Given the description of an element on the screen output the (x, y) to click on. 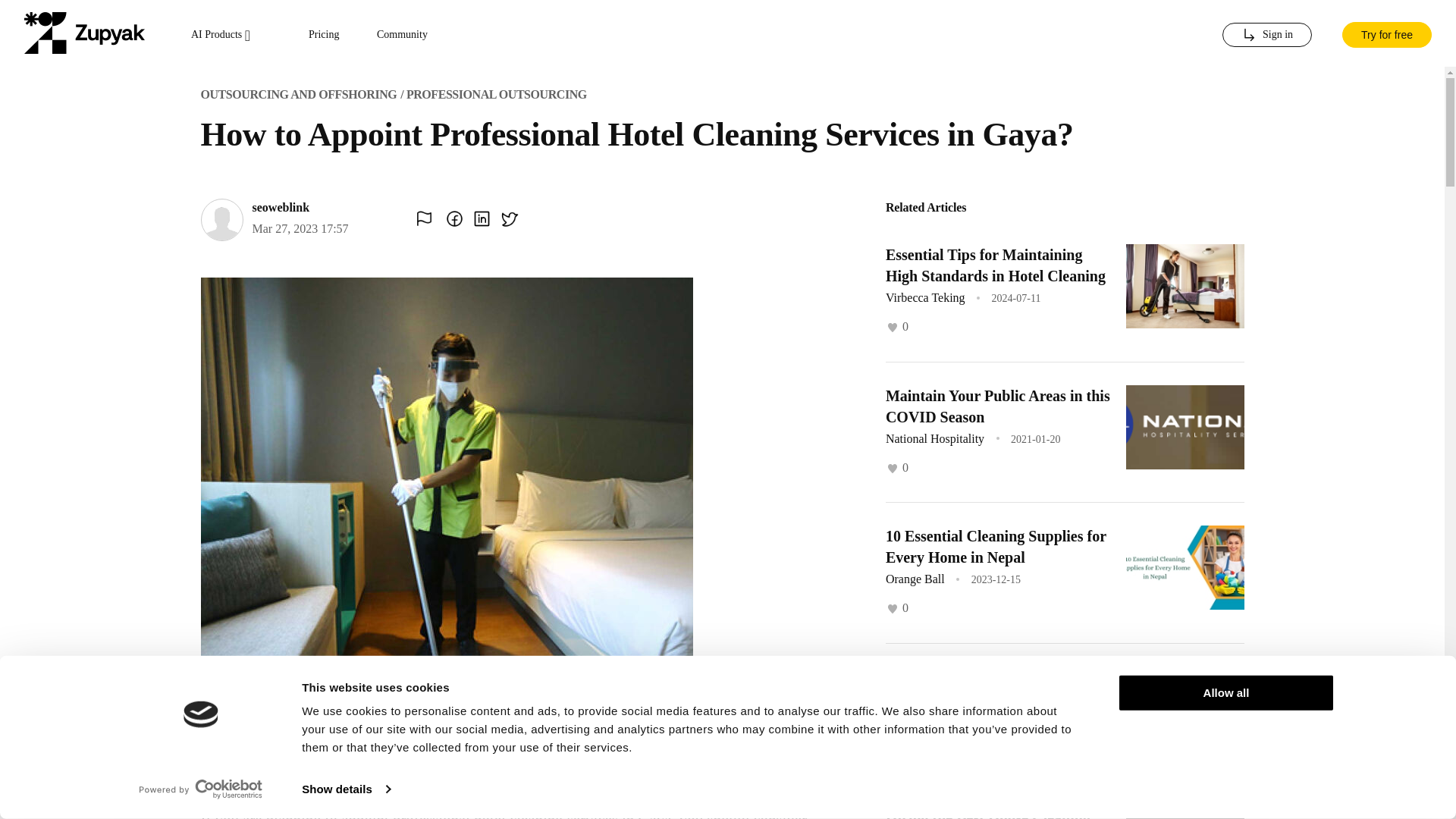
Show details (345, 789)
Maintain Your Public Areas in this COVID Season (997, 405)
Hiring the Best House Cleaning Service St Kilda, Melbourne (987, 814)
10 Essential Cleaning Supplies for Every Home in Nepal (995, 546)
Clean Start: Move-In Cleaning Tips for a Healthier Home (985, 687)
